Given the description of an element on the screen output the (x, y) to click on. 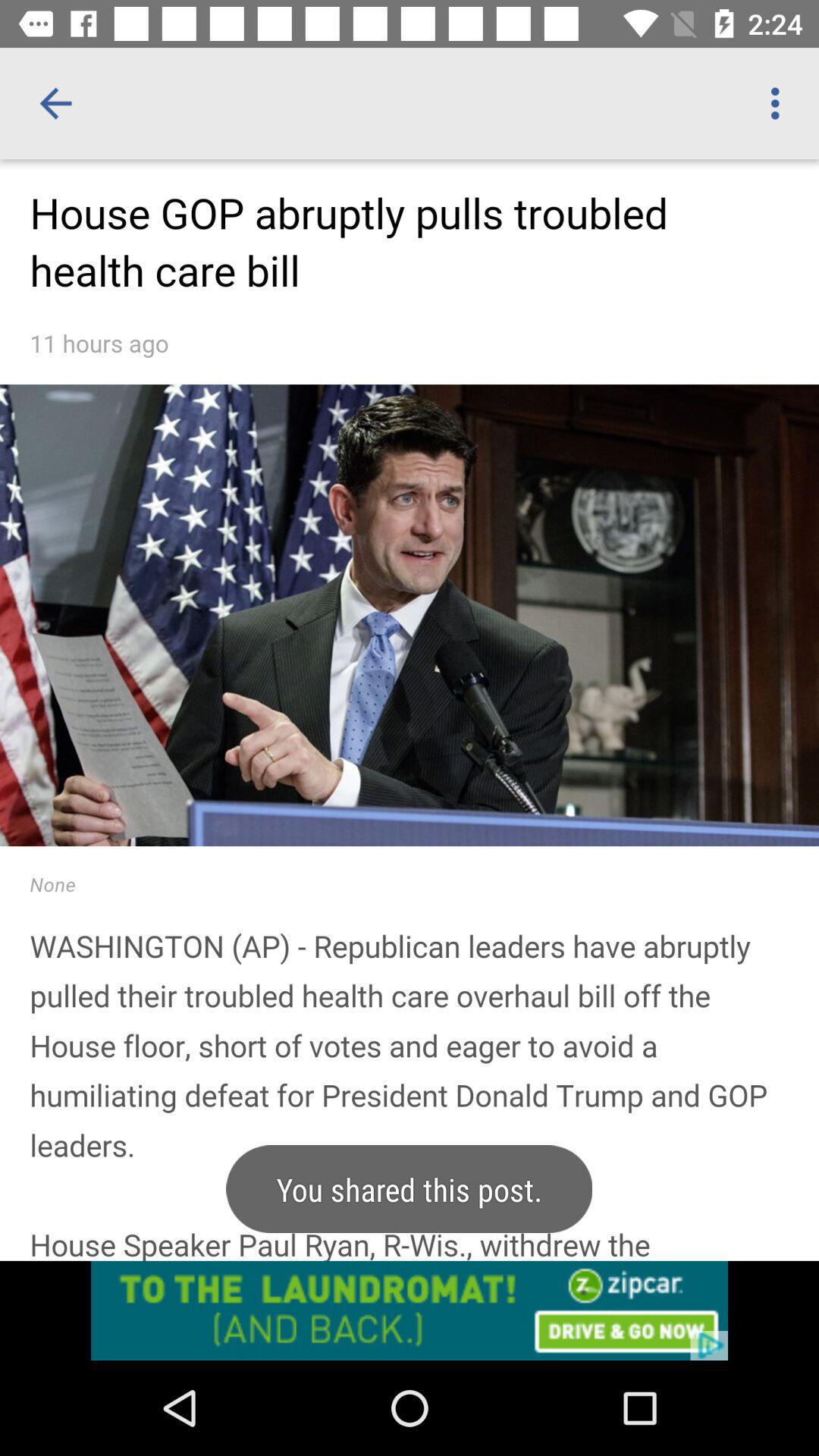
scrollable page (409, 759)
